Given the description of an element on the screen output the (x, y) to click on. 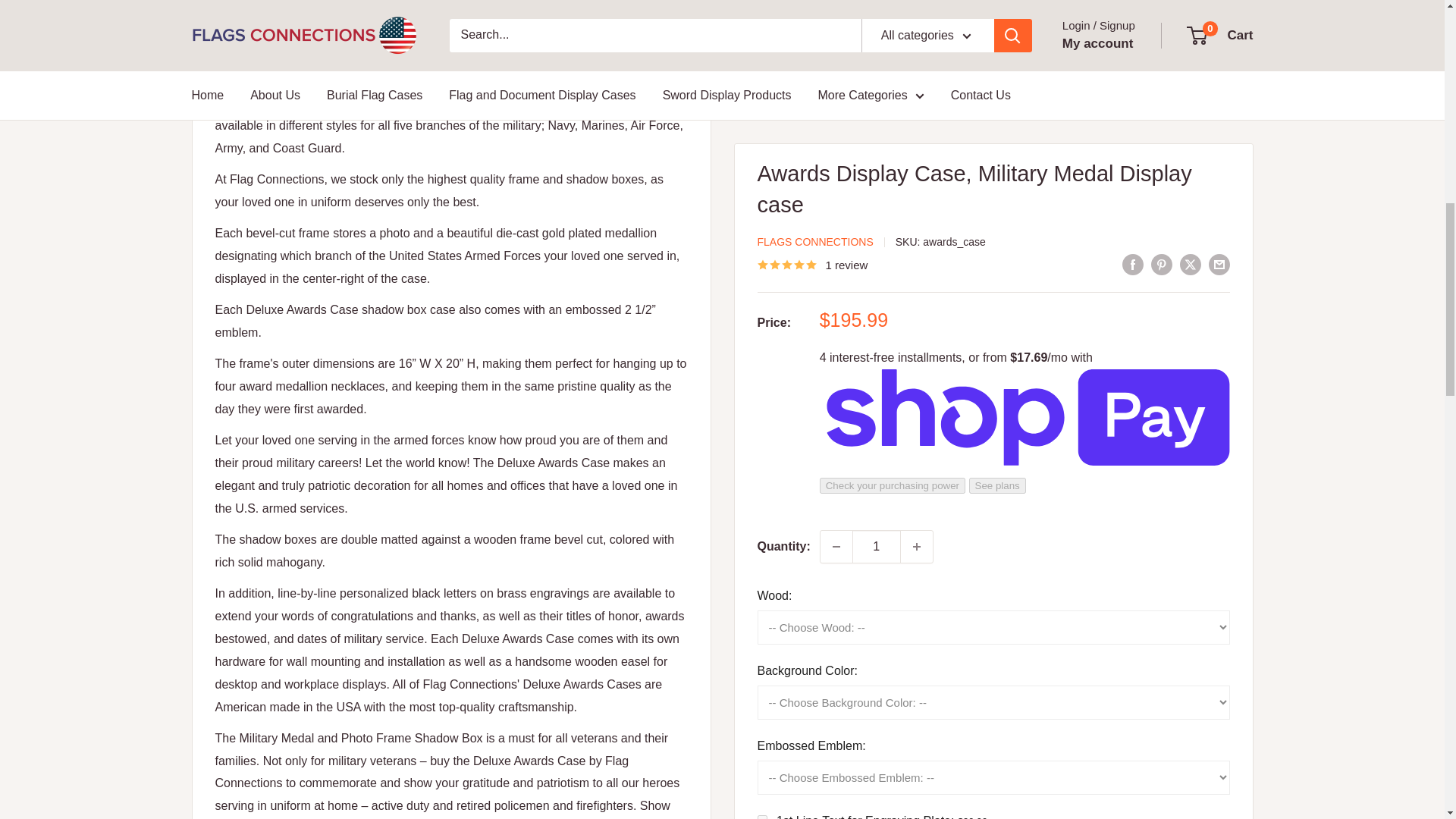
on (762, 246)
on (762, 156)
on (762, 95)
on (762, 216)
on (762, 65)
on (762, 186)
on (762, 126)
